Given the description of an element on the screen output the (x, y) to click on. 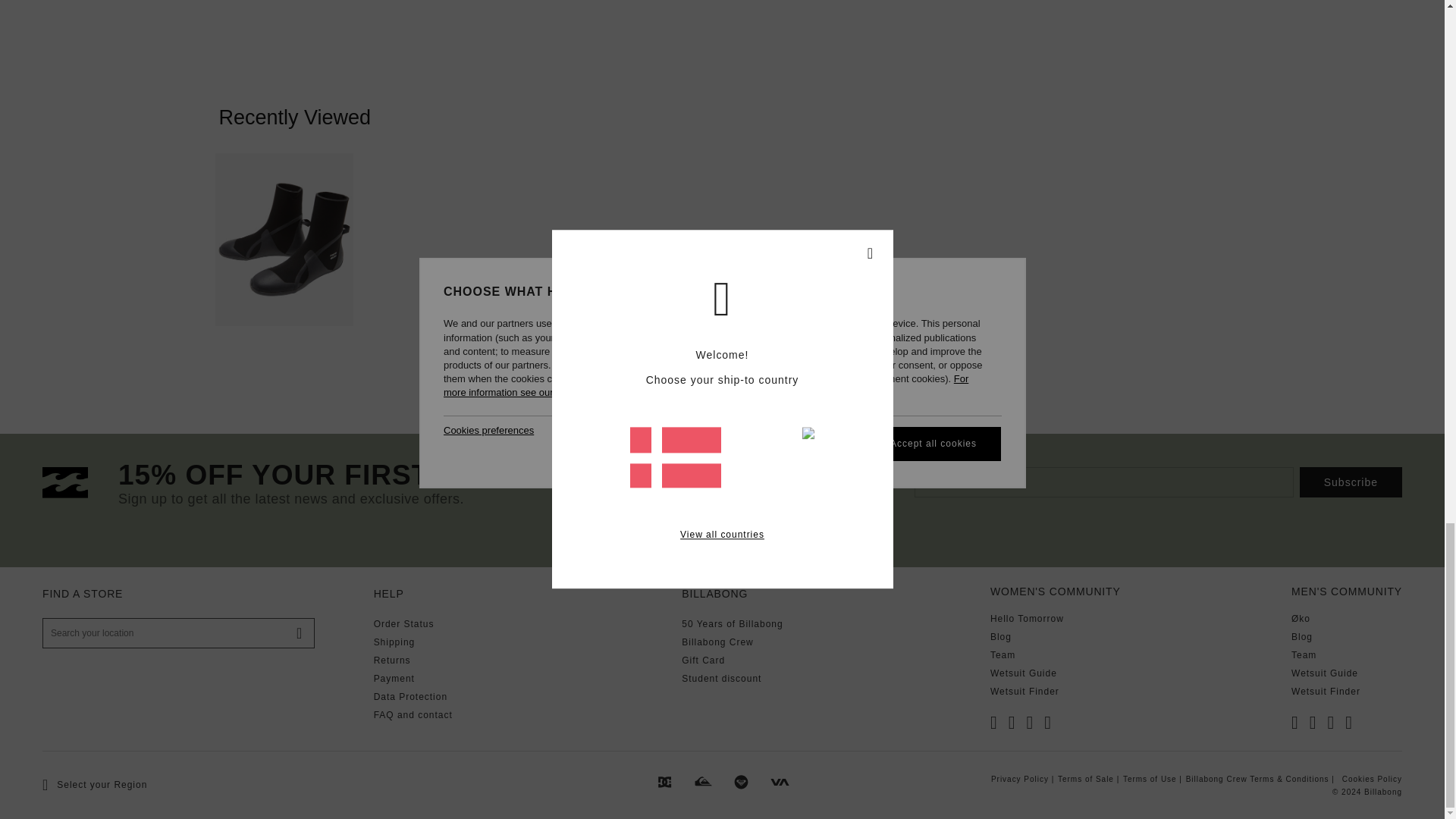
men (746, 484)
women (813, 484)
